Given the description of an element on the screen output the (x, y) to click on. 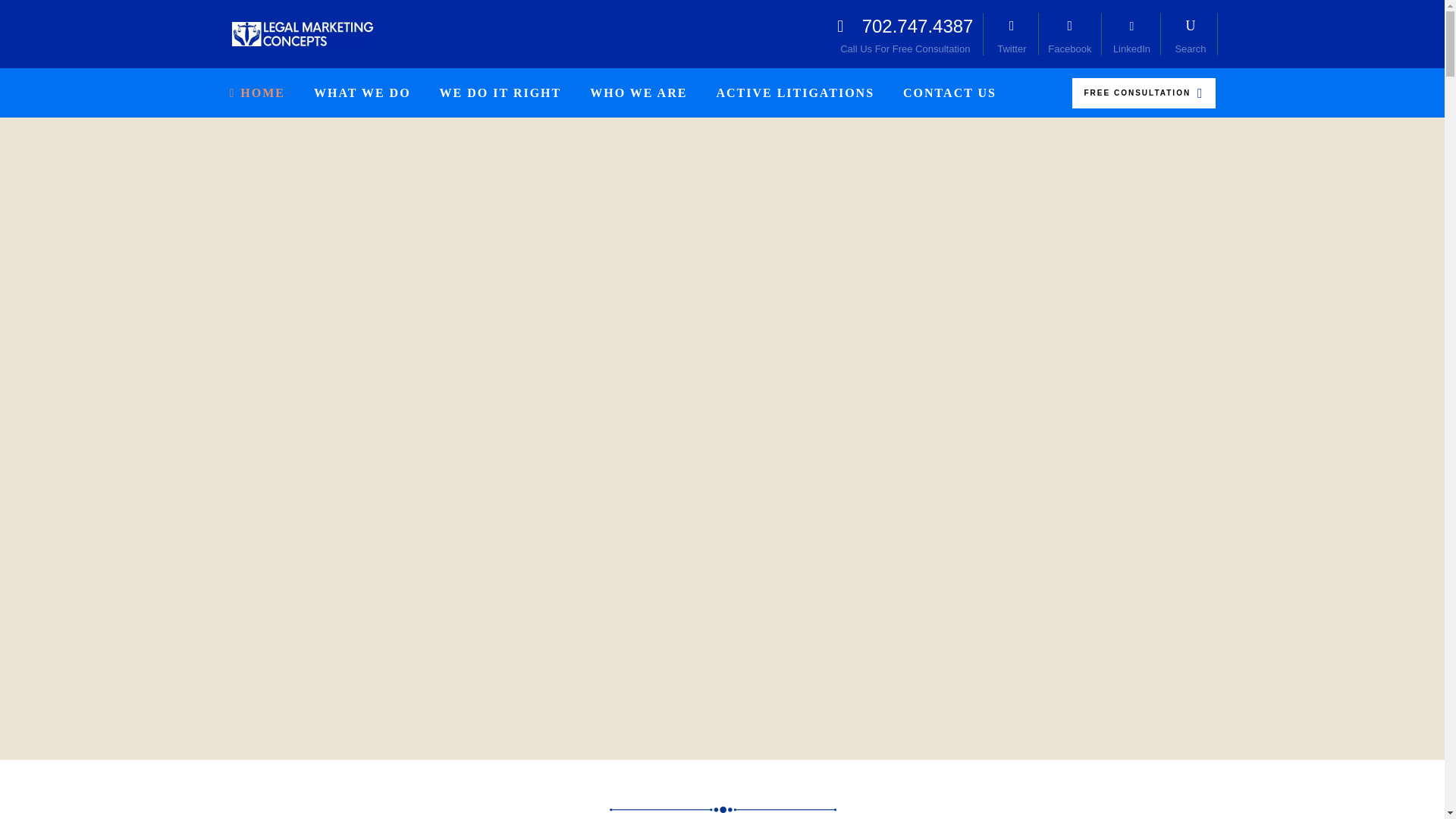
Search (1190, 34)
Facebook (1070, 34)
WHO WE ARE (638, 92)
Twitter (1012, 34)
ACTIVE LITIGATIONS (794, 92)
WE DO IT RIGHT (905, 34)
HOME (500, 92)
LinkedIn (263, 92)
WHAT WE DO (1131, 34)
